Given the description of an element on the screen output the (x, y) to click on. 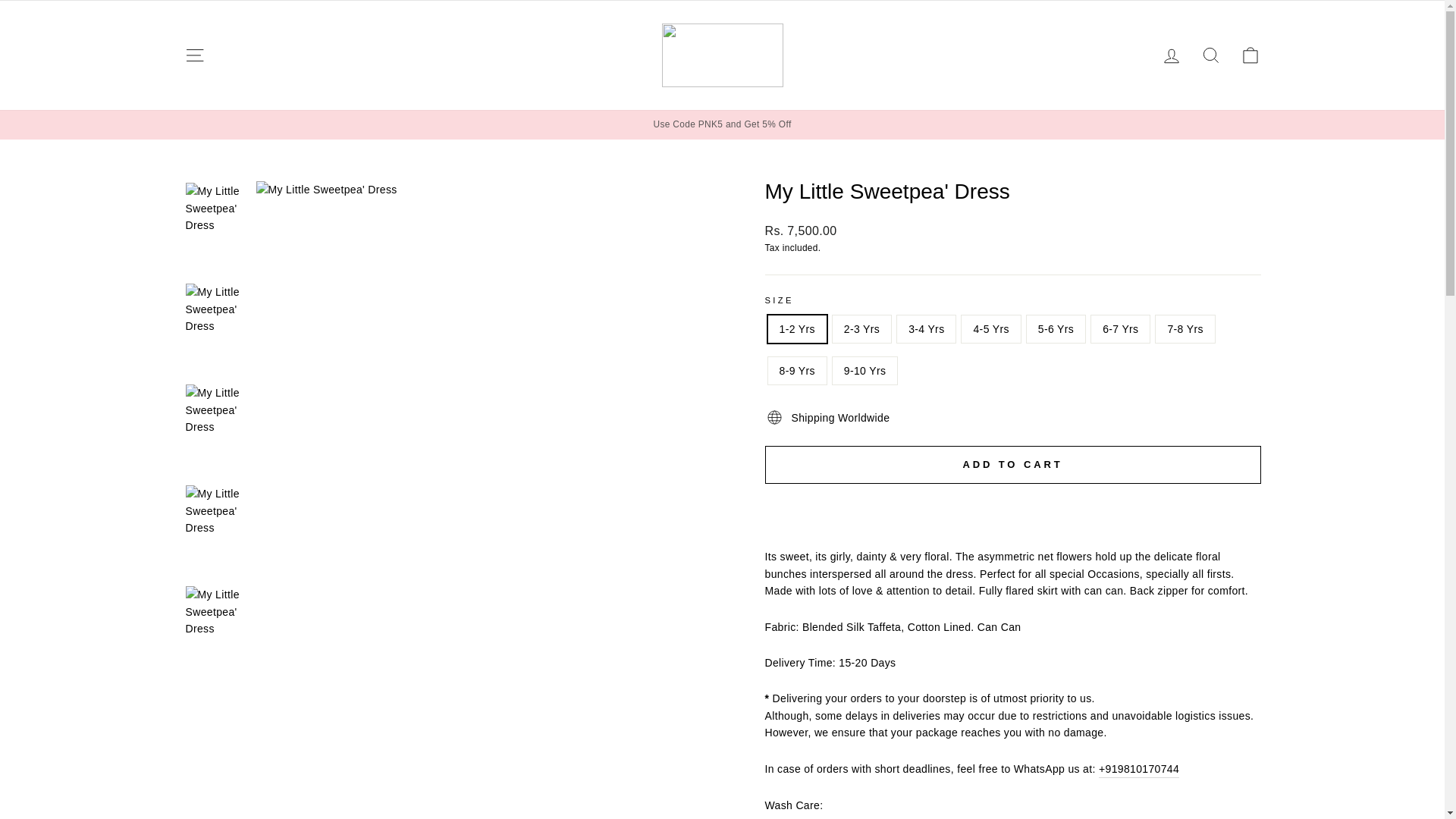
ICON-SEARCH (1210, 55)
ICON-HAMBURGER (194, 55)
4-5 Yrs (1210, 55)
8-9 Yrs (194, 55)
